Given the description of an element on the screen output the (x, y) to click on. 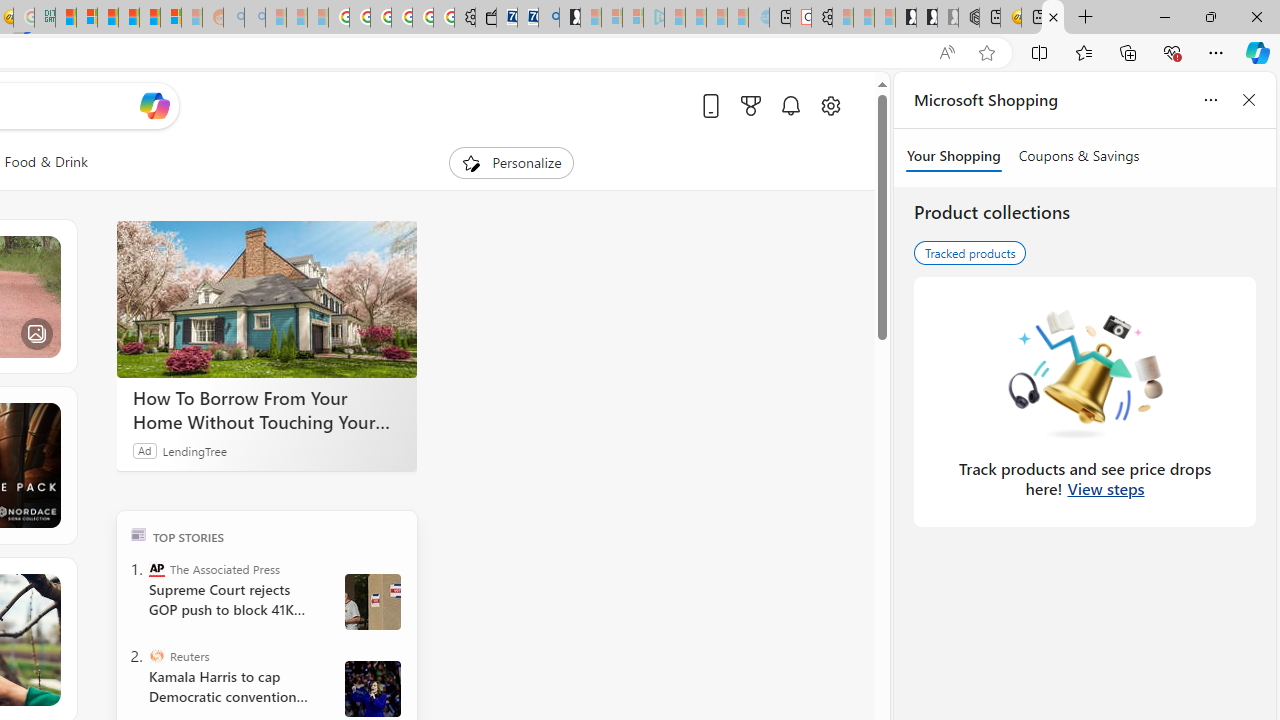
Wallet (486, 17)
Reuters (156, 655)
